Given the description of an element on the screen output the (x, y) to click on. 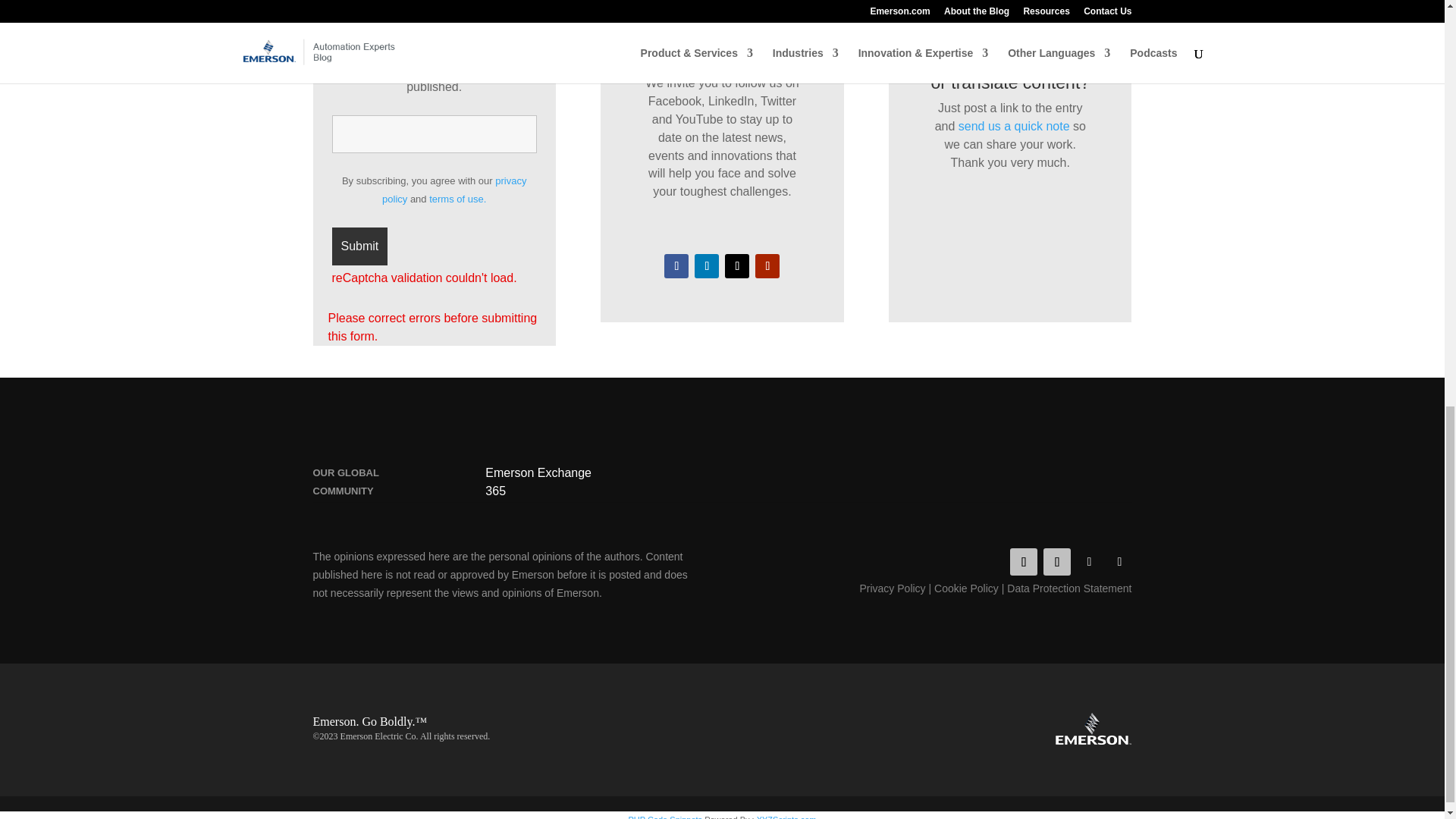
Follow on LinkedIn (706, 265)
Follow on Youtube (1118, 561)
Follow on Facebook (675, 265)
Submit (359, 246)
Follow on X (737, 265)
Follow on X (1088, 561)
Follow on Facebook (1023, 561)
Follow on LinkedIn (1056, 561)
Insert PHP Snippet Wordpress Plugin (664, 816)
Follow on Youtube (766, 265)
